Given the description of an element on the screen output the (x, y) to click on. 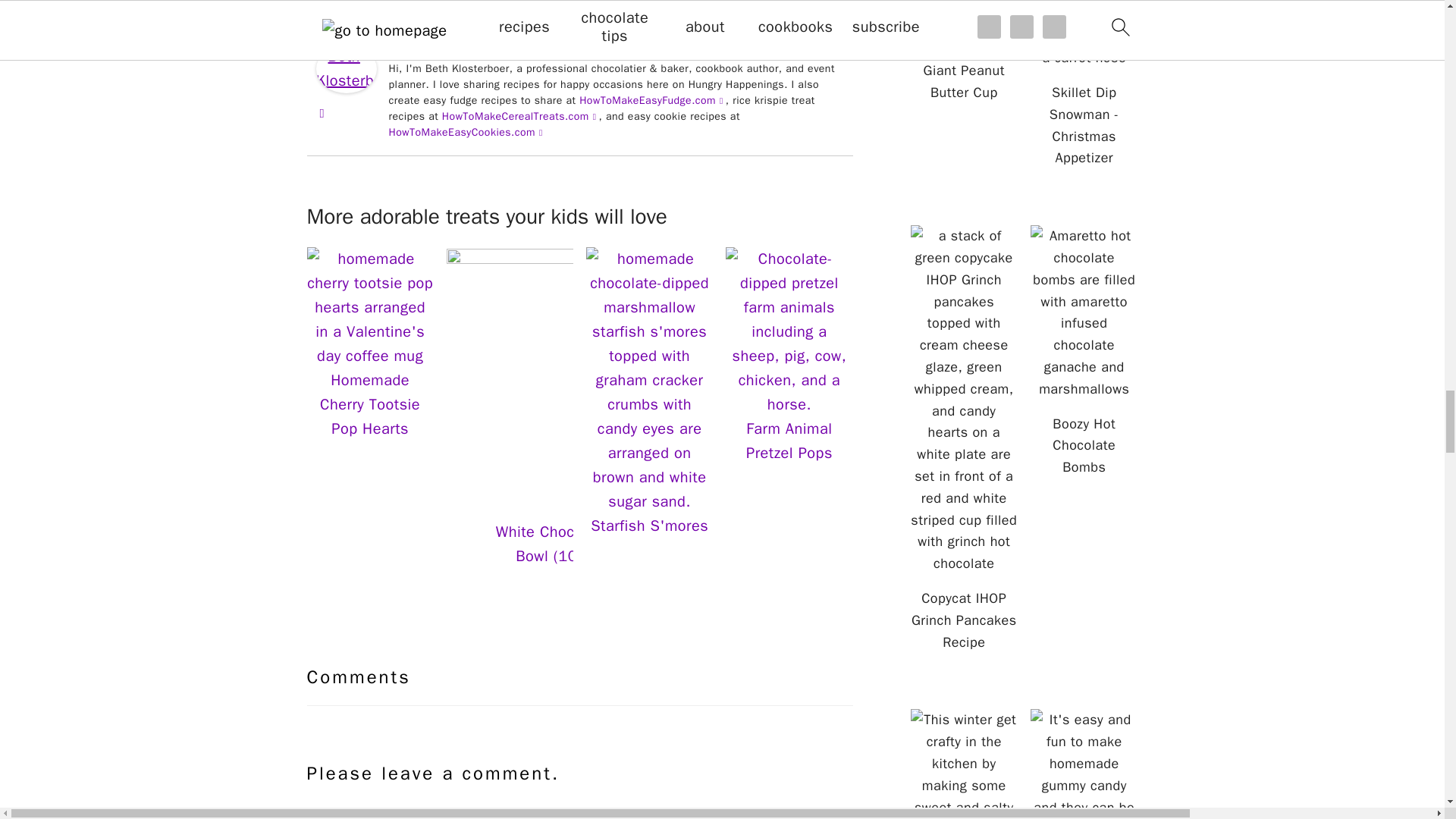
Beth Klosterboer (345, 100)
Twitter (834, 49)
Facebook (814, 49)
